Given the description of an element on the screen output the (x, y) to click on. 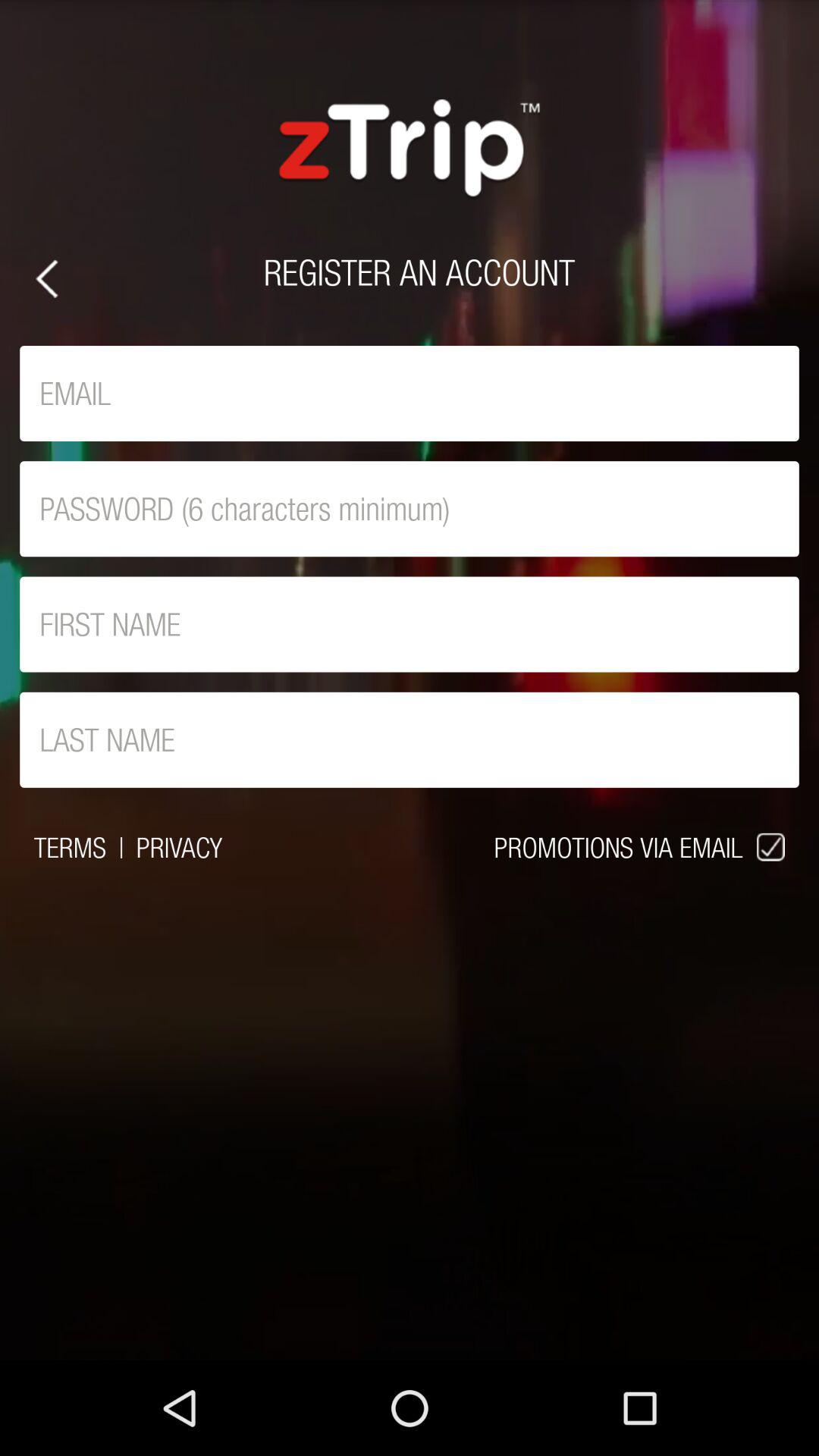
tap item next to the register an account icon (46, 278)
